Given the description of an element on the screen output the (x, y) to click on. 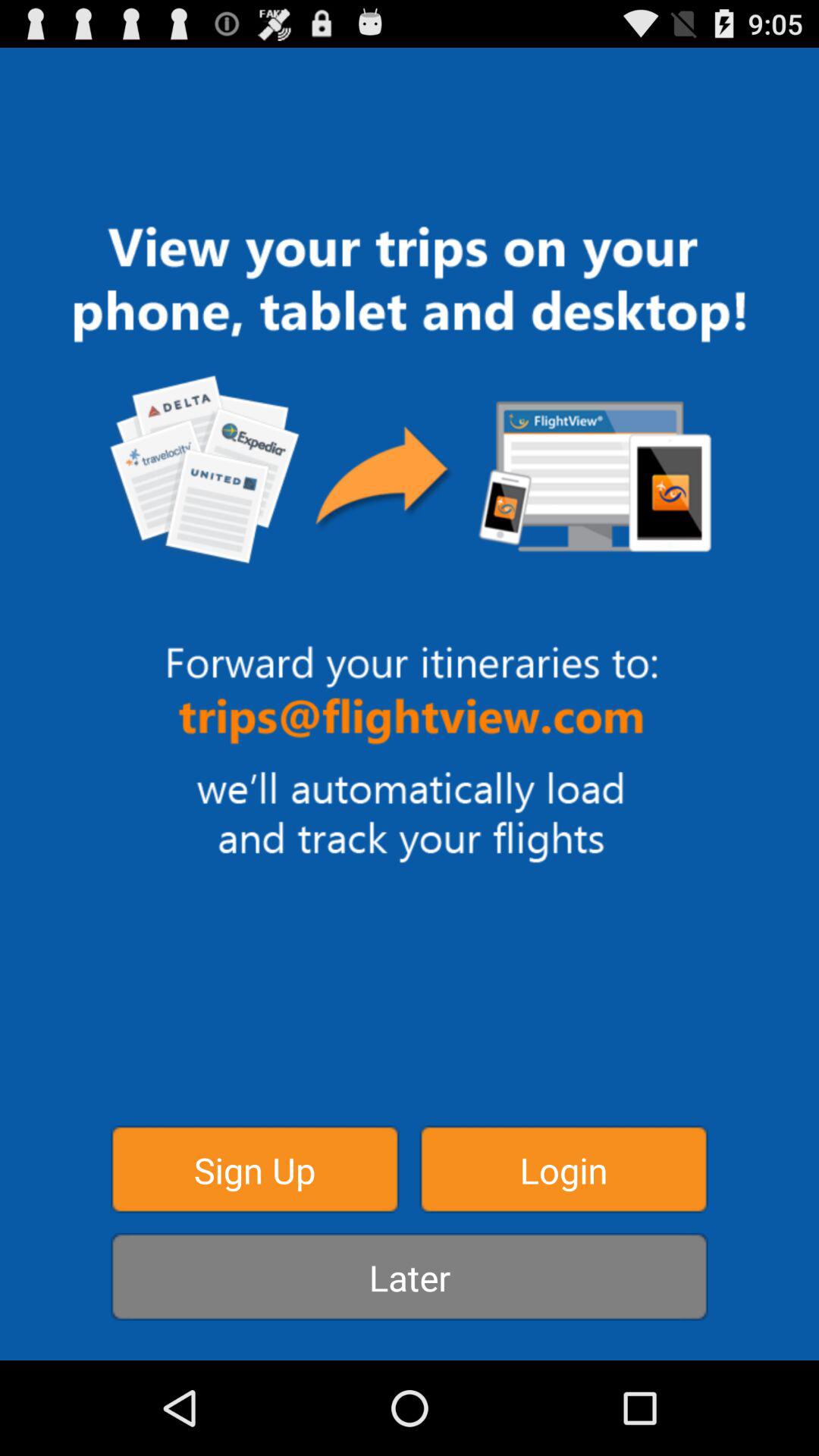
turn off item at the bottom right corner (563, 1169)
